Given the description of an element on the screen output the (x, y) to click on. 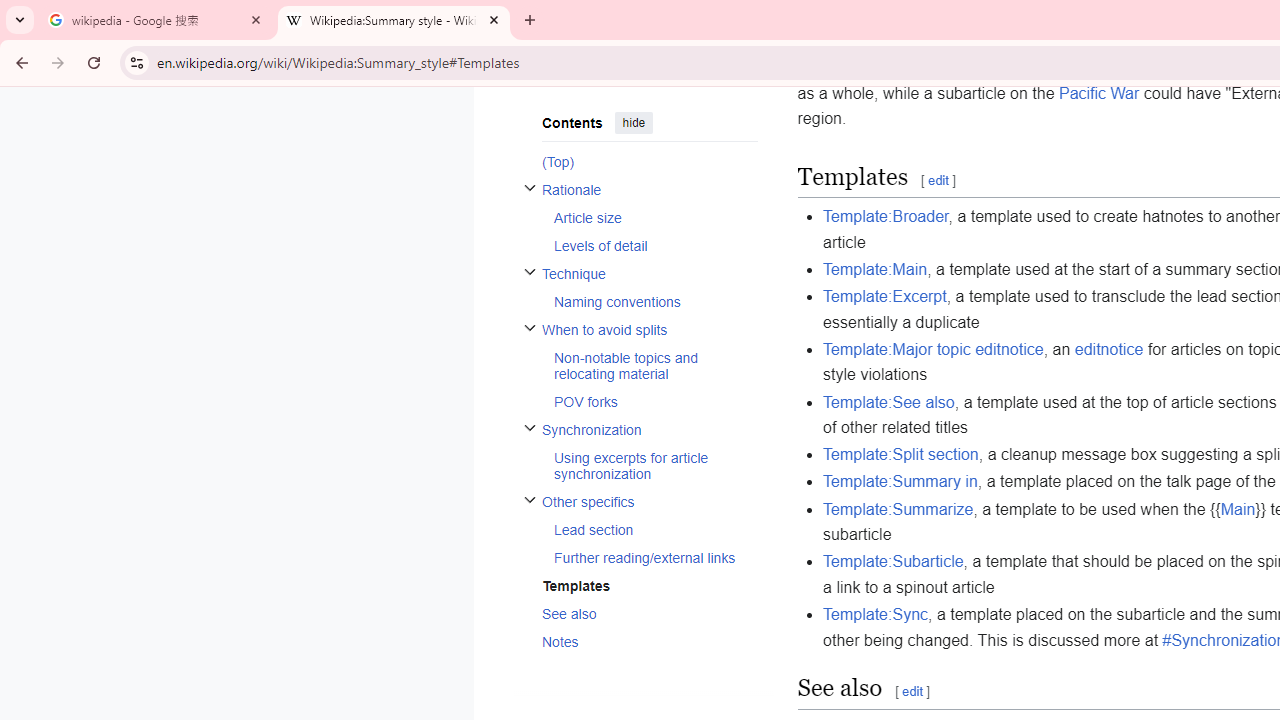
Other specifics (649, 501)
When to avoid splits (649, 329)
Template:Split section (901, 454)
editnotice (1108, 348)
Template:Sync (876, 615)
Toggle Synchronization subsection (529, 427)
Templates (649, 584)
AutomationID: toc-Notes (642, 641)
Template:See also (888, 402)
Synchronization (649, 429)
Pacific War (1099, 93)
AutomationID: toc-Technique (642, 287)
Levels of detail (654, 245)
AutomationID: toc-Non-notable_topics_and_relocating_material (649, 365)
